Given the description of an element on the screen output the (x, y) to click on. 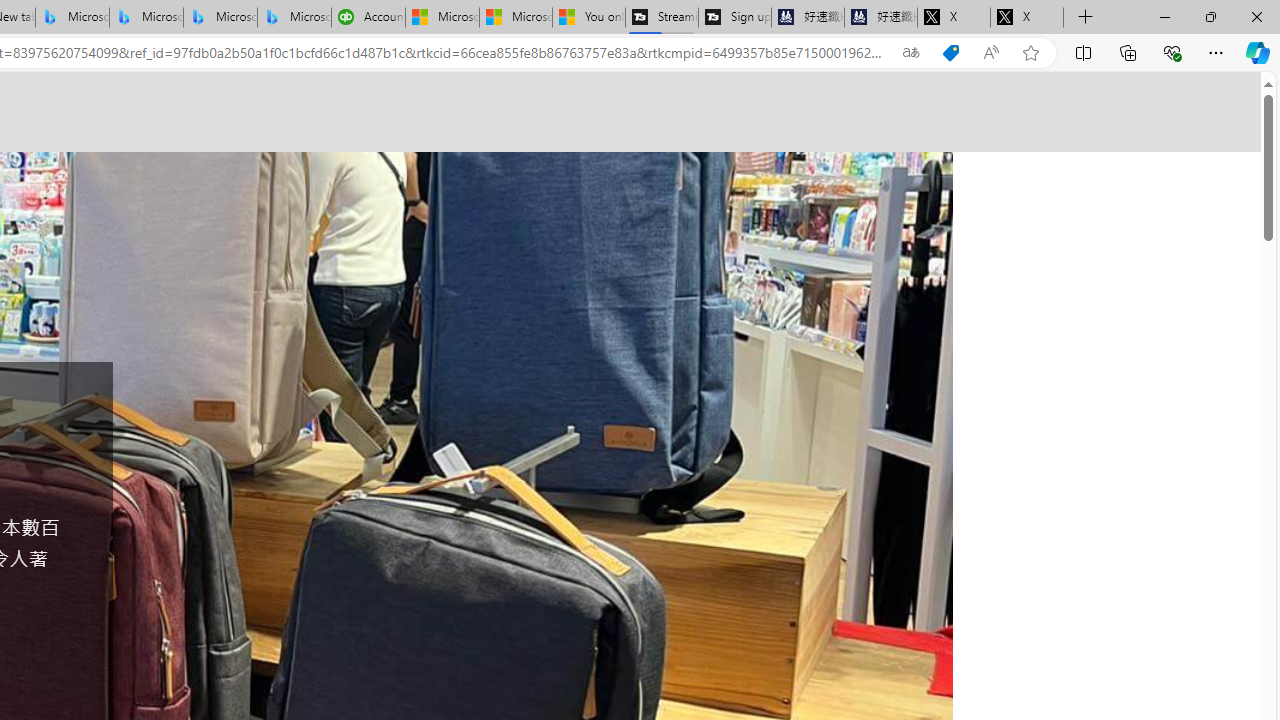
New Tab (1085, 17)
Split screen (1083, 52)
Minimize (1164, 16)
Browser essentials (1171, 52)
Add this page to favorites (Ctrl+D) (1030, 53)
Close (1256, 16)
Microsoft Start (515, 17)
Streaming Coverage | T3 (661, 17)
